Given the description of an element on the screen output the (x, y) to click on. 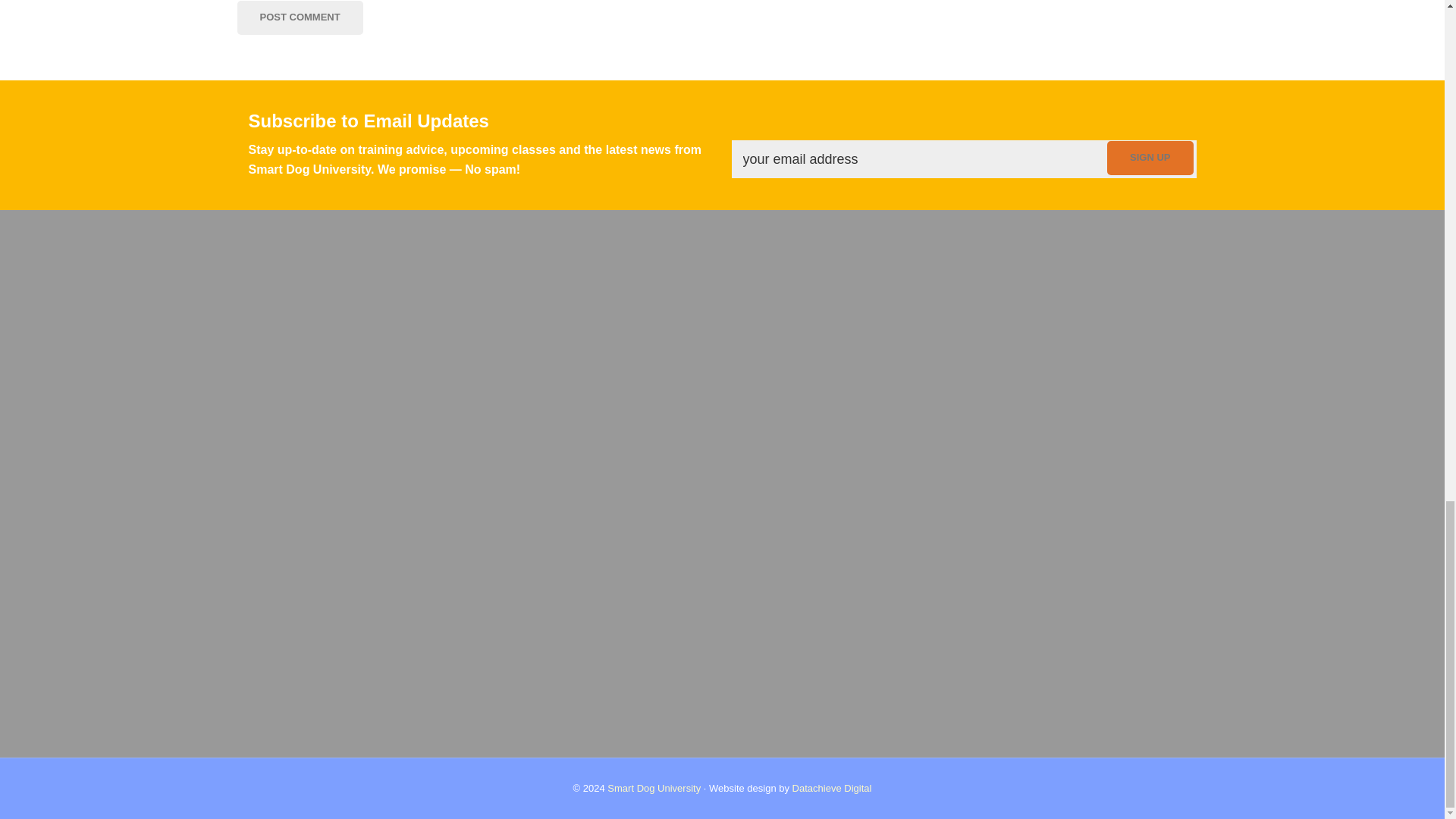
Sign Up (1149, 157)
Post Comment (298, 17)
Post Comment (298, 17)
Sign Up (1149, 157)
